Given the description of an element on the screen output the (x, y) to click on. 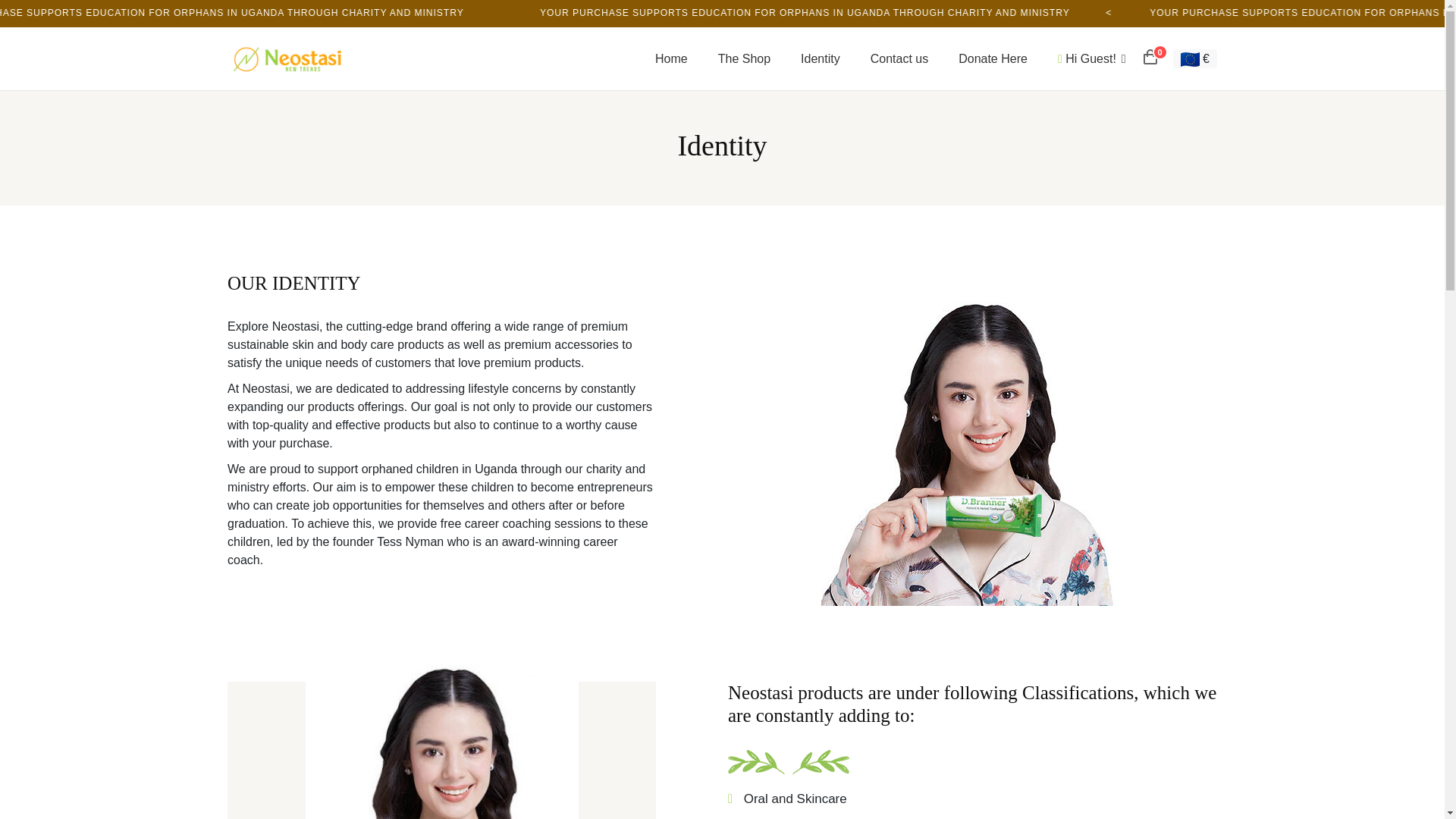
Donate Here (992, 58)
The Shop (744, 58)
0 (1149, 54)
Identity (821, 58)
Hi Guest! (1091, 58)
Home (671, 58)
Contact us (899, 58)
